Given the description of an element on the screen output the (x, y) to click on. 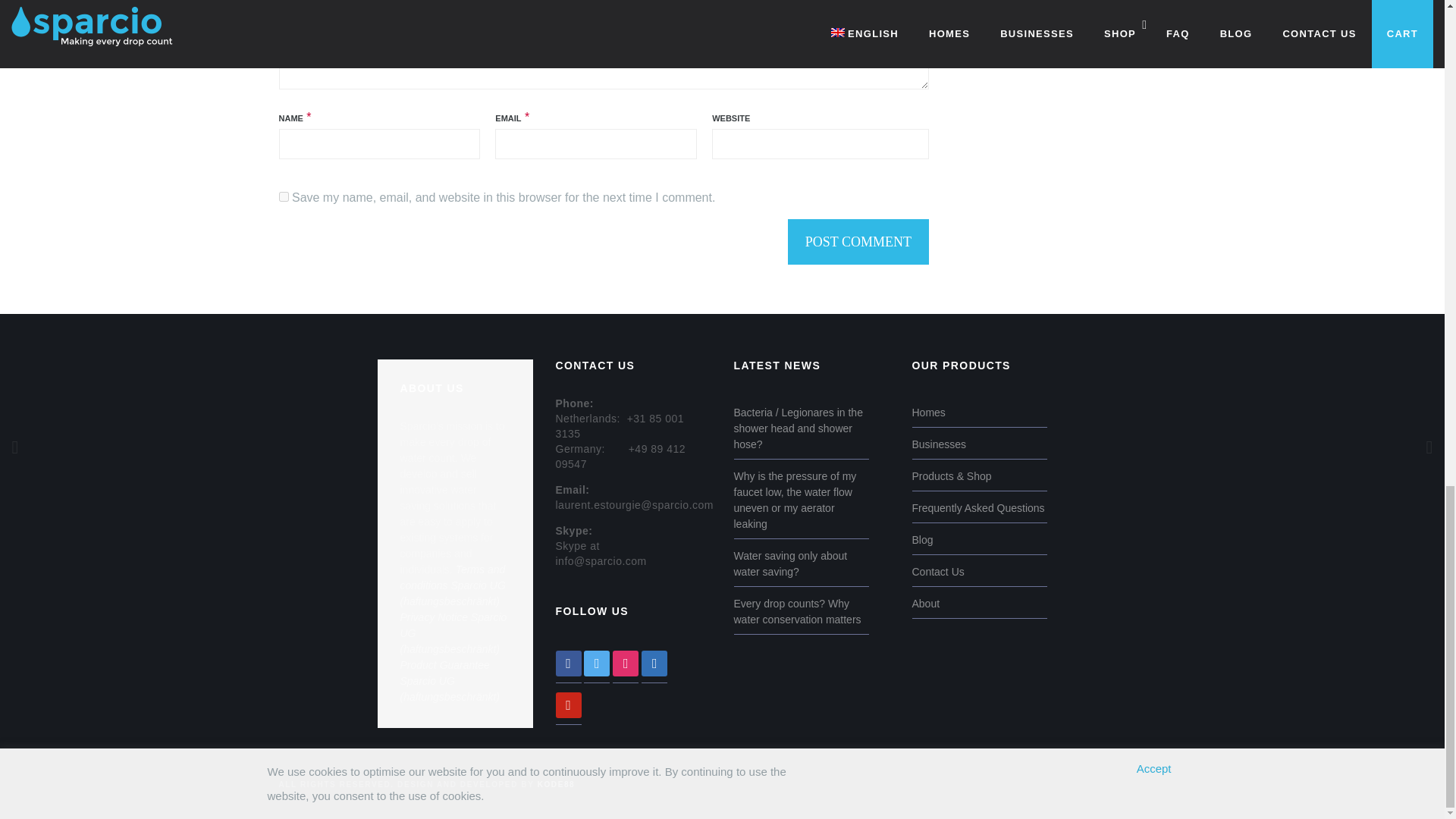
Twitter (596, 662)
Post Comment (857, 241)
Default Label (567, 703)
Facebook (567, 662)
Default Label (654, 662)
Instagram (625, 662)
yes (283, 196)
